Given the description of an element on the screen output the (x, y) to click on. 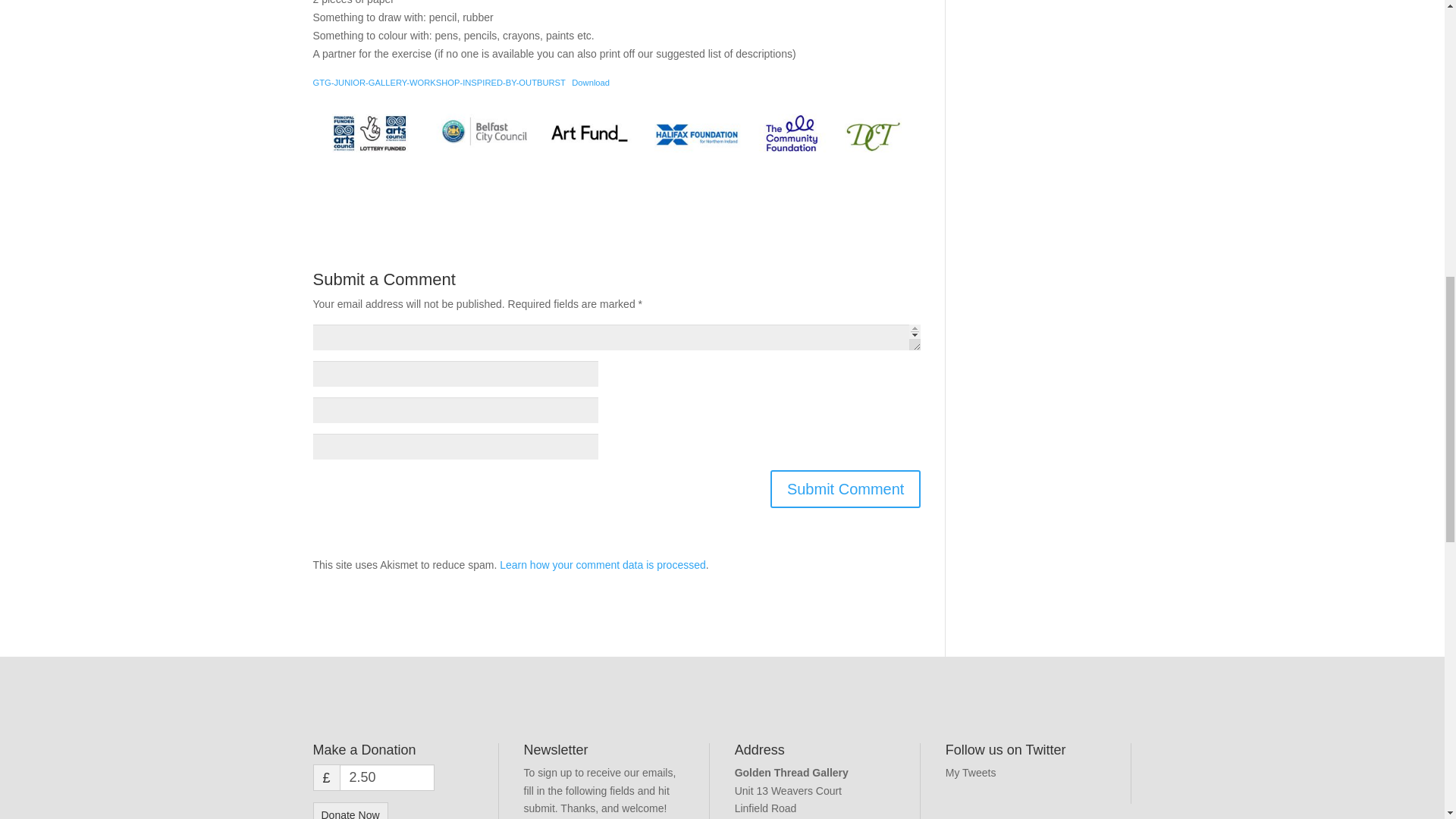
Submit Comment (845, 488)
2.50 (386, 777)
